Given the description of an element on the screen output the (x, y) to click on. 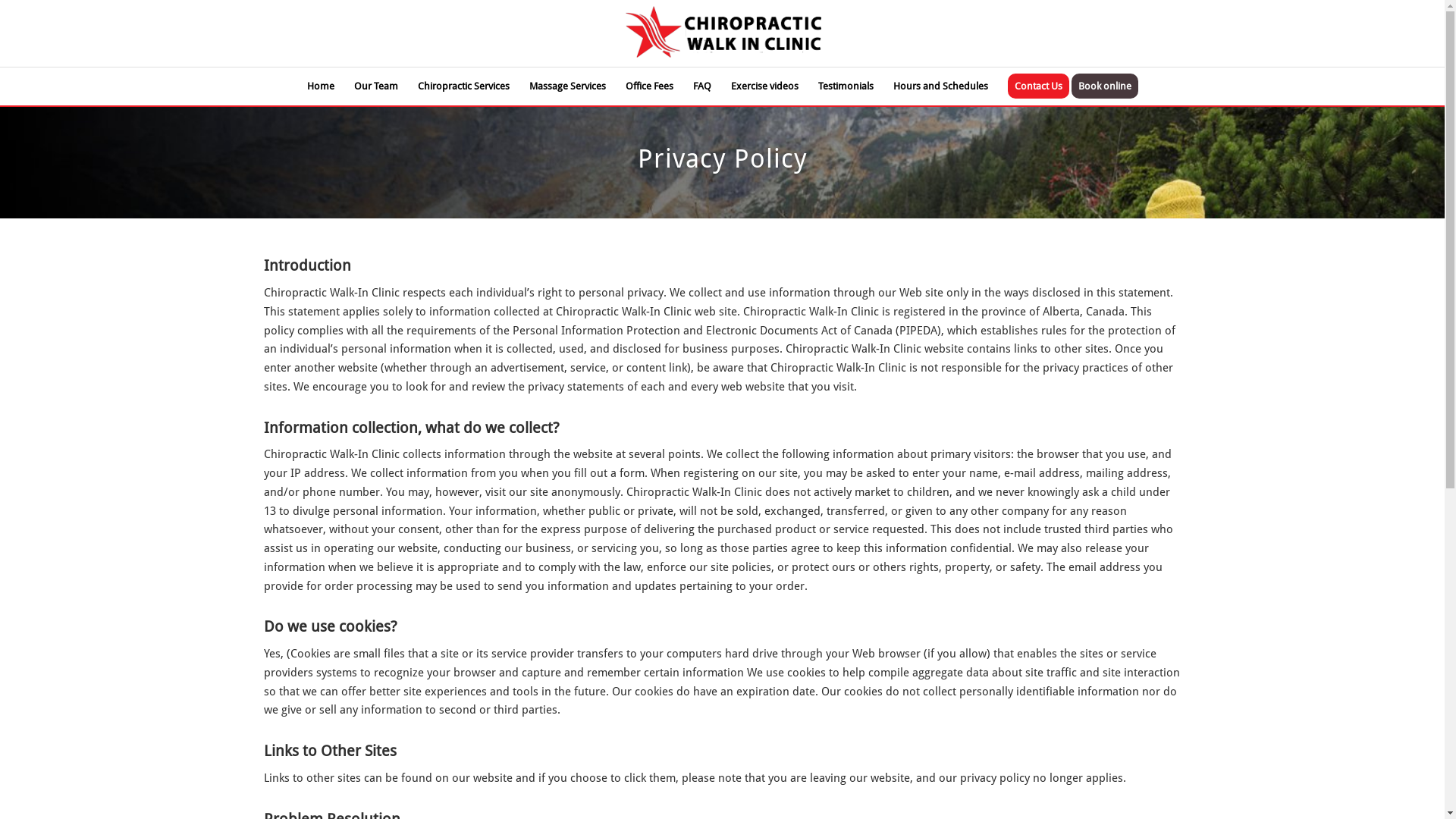
Office Fees Element type: text (649, 86)
Contact Us Element type: text (1038, 86)
Exercise videos Element type: text (763, 86)
Chiropractic Services Element type: text (463, 86)
Testimonials Element type: text (845, 86)
FAQ Element type: text (701, 86)
Massage Services Element type: text (566, 86)
Book online Element type: text (1108, 86)
Home Element type: text (320, 86)
Our Team Element type: text (375, 86)
Hours and Schedules Element type: text (939, 86)
Beaumont-chiropractor-logo- Element type: hover (722, 33)
